Given the description of an element on the screen output the (x, y) to click on. 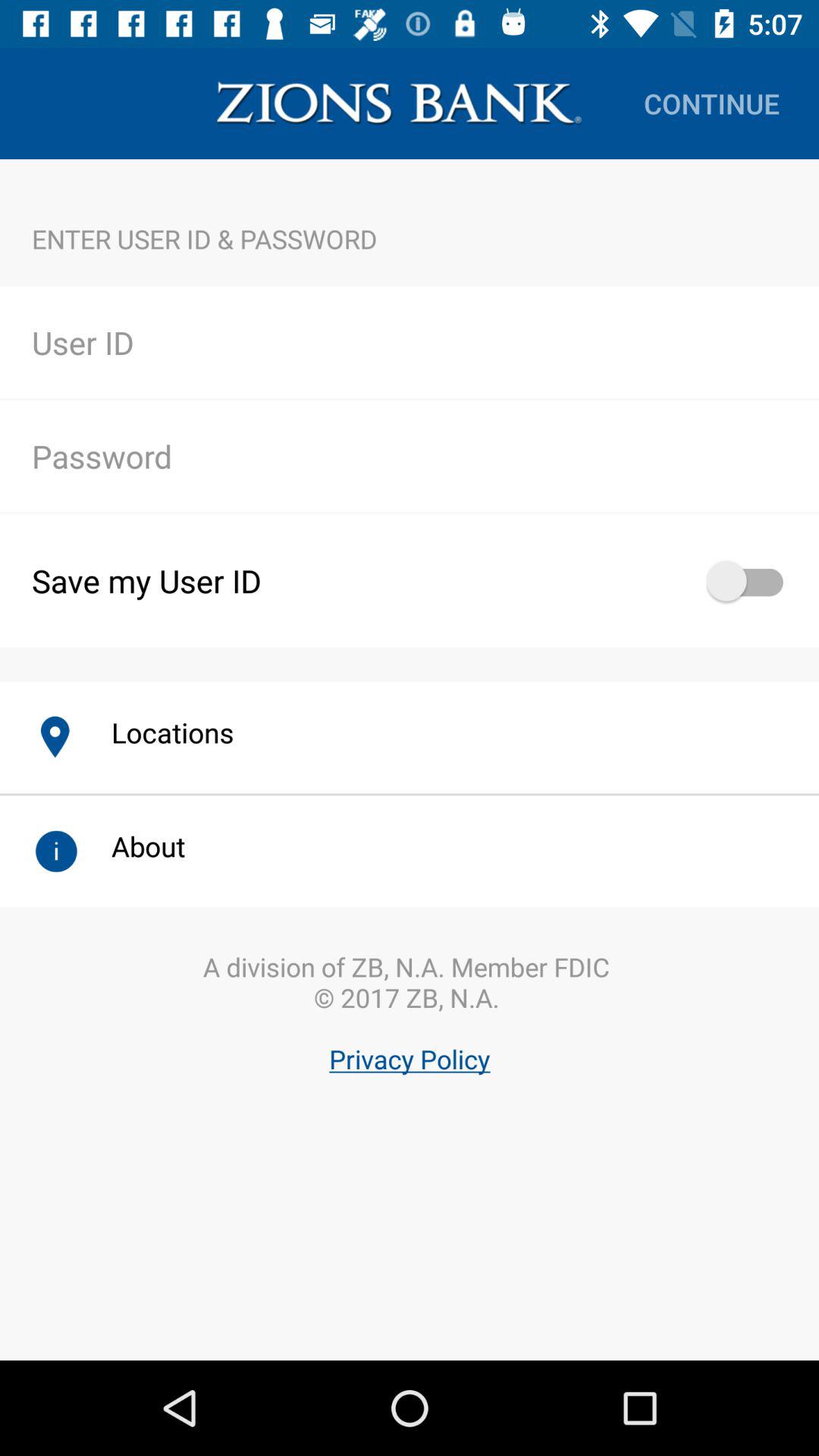
scroll to the about (132, 846)
